Given the description of an element on the screen output the (x, y) to click on. 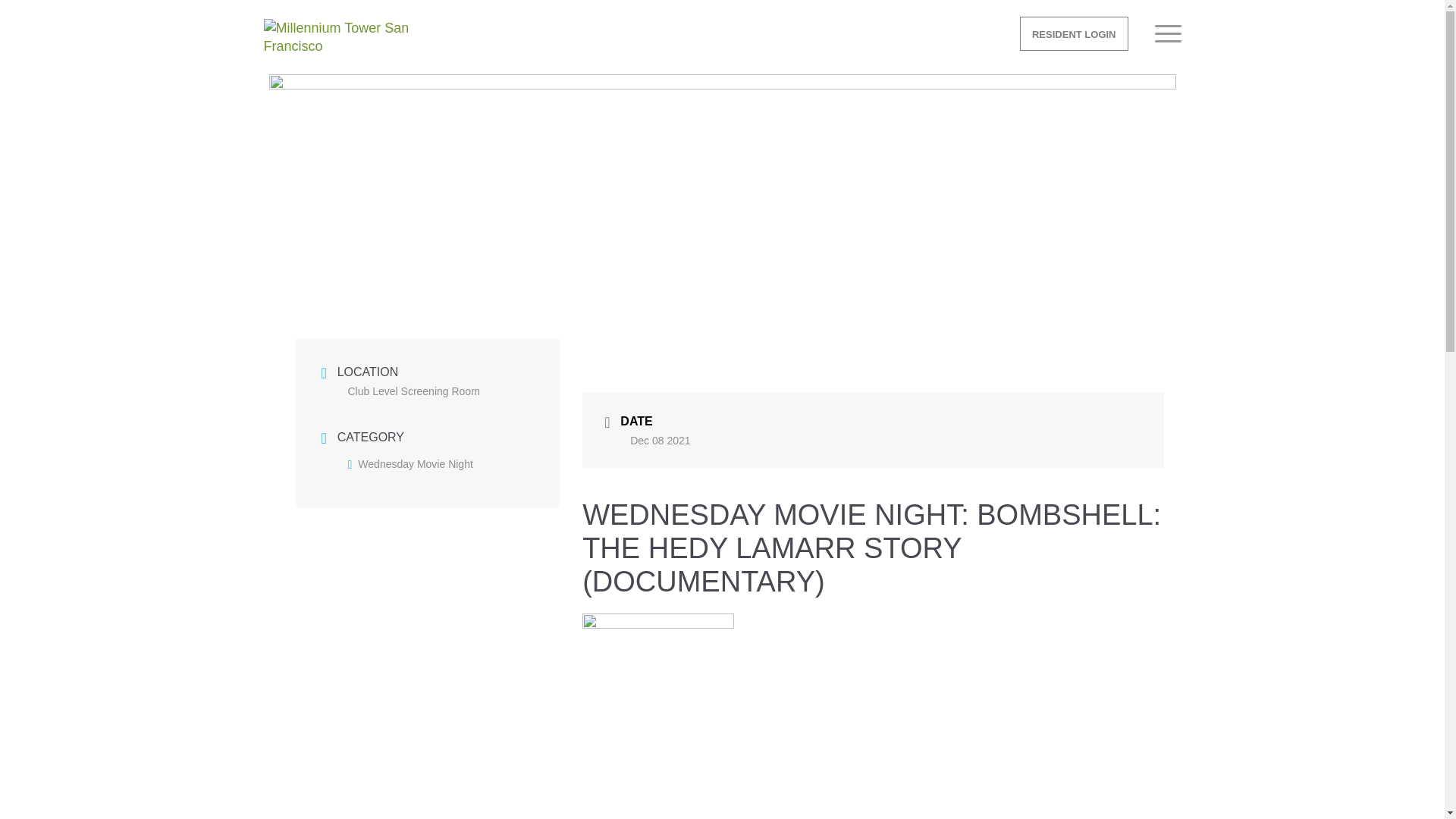
RESIDENT LOGIN (1073, 34)
Wednesday Movie Night (409, 463)
logo-dark-new (337, 42)
